Given the description of an element on the screen output the (x, y) to click on. 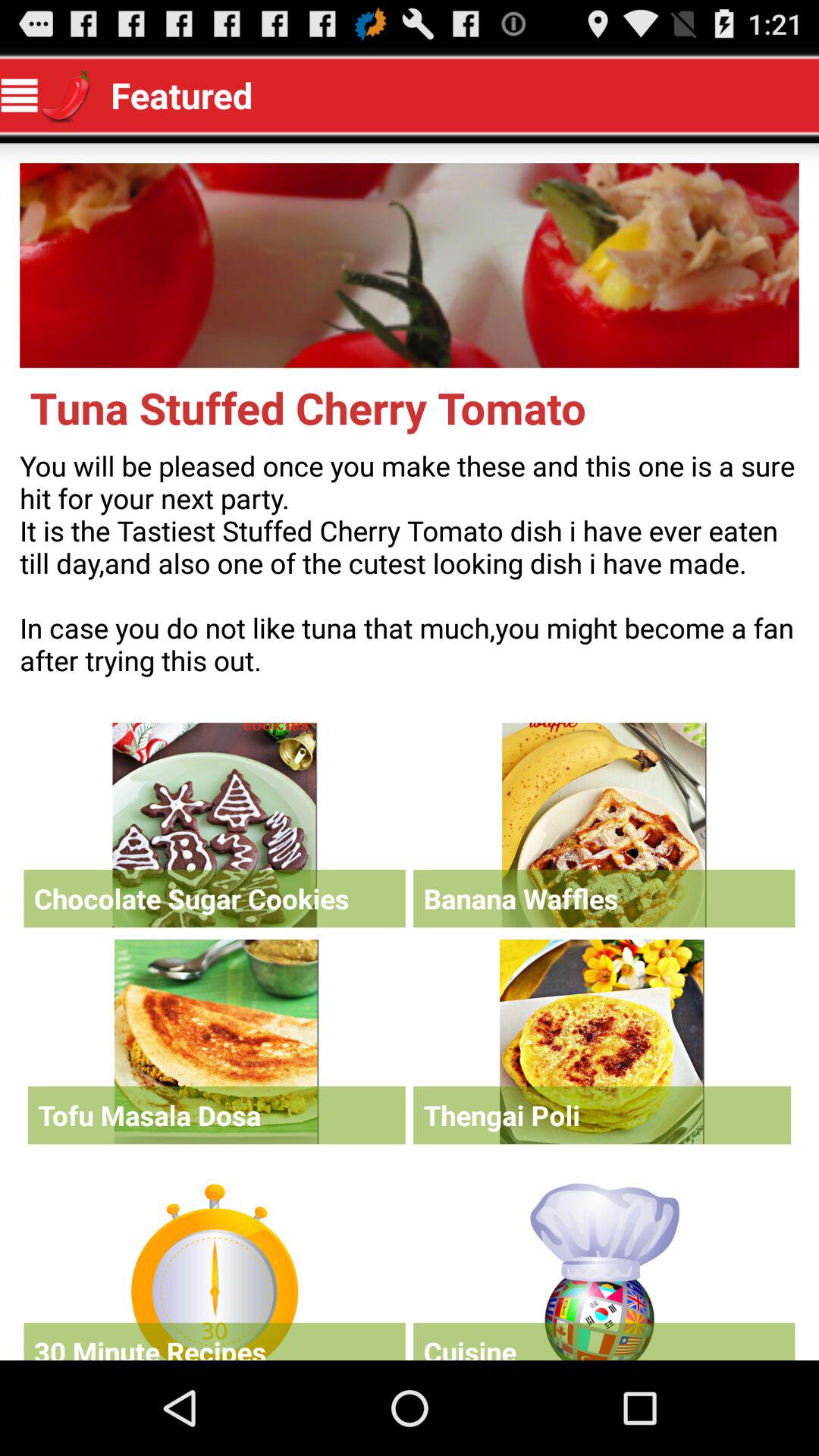
go to page (602, 1041)
